Given the description of an element on the screen output the (x, y) to click on. 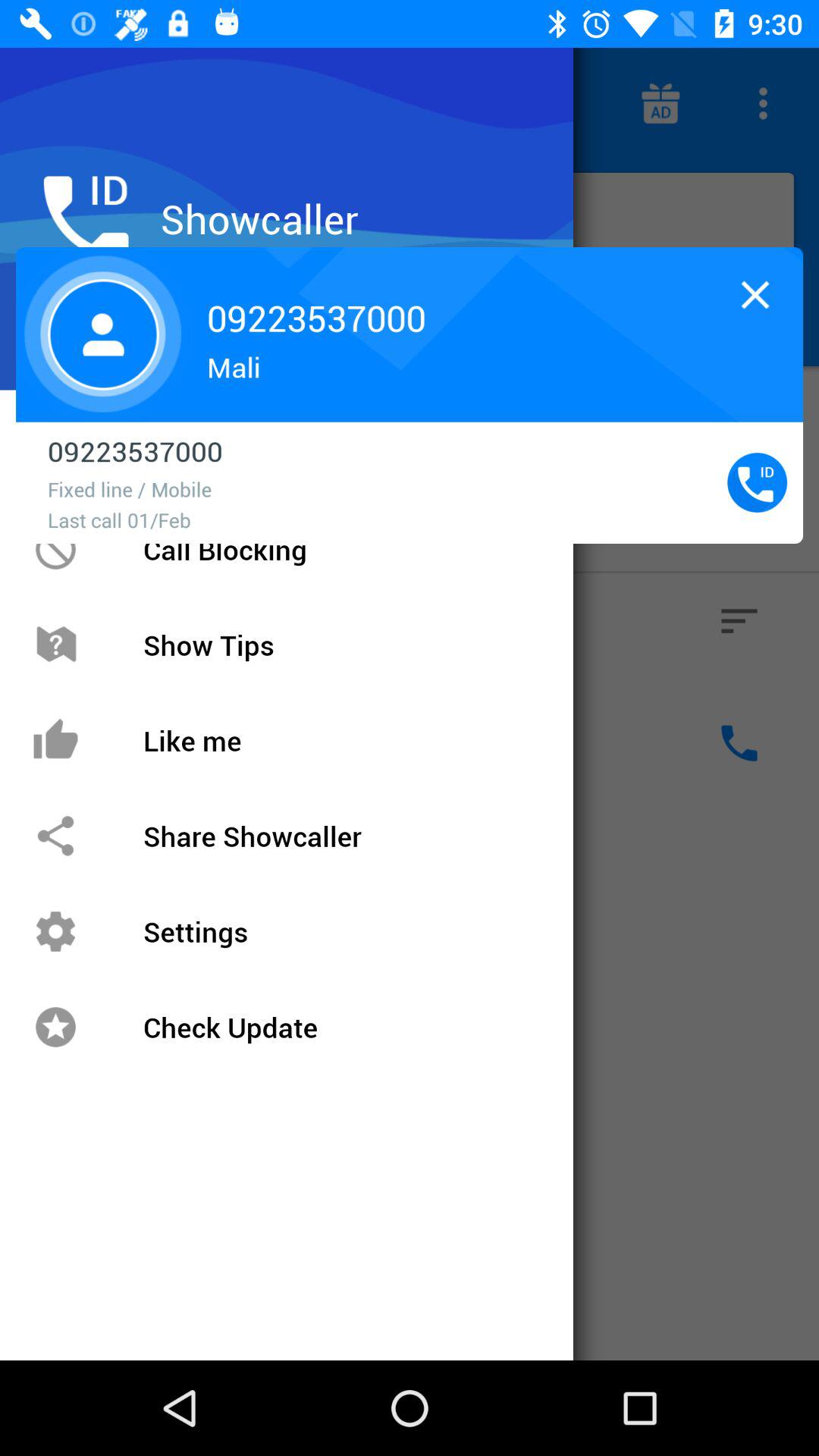
select the like icon on the web page (79, 742)
click the like button on the web page (79, 742)
click the call blocking icon on the web page (55, 549)
click the button below the caller id button on the web page (739, 620)
